Given the description of an element on the screen output the (x, y) to click on. 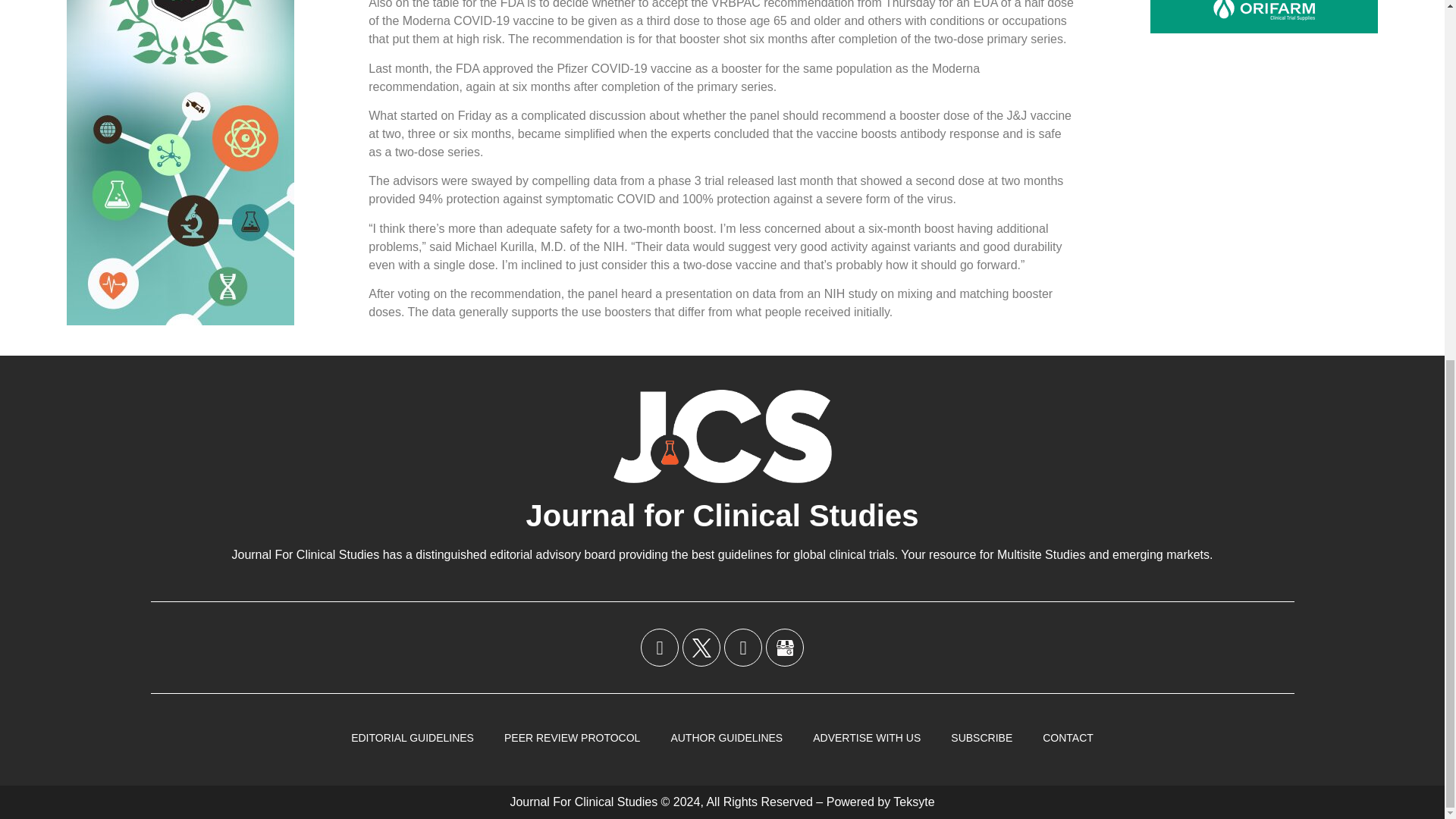
jcs-white.png (722, 435)
Web design services (913, 801)
